Given the description of an element on the screen output the (x, y) to click on. 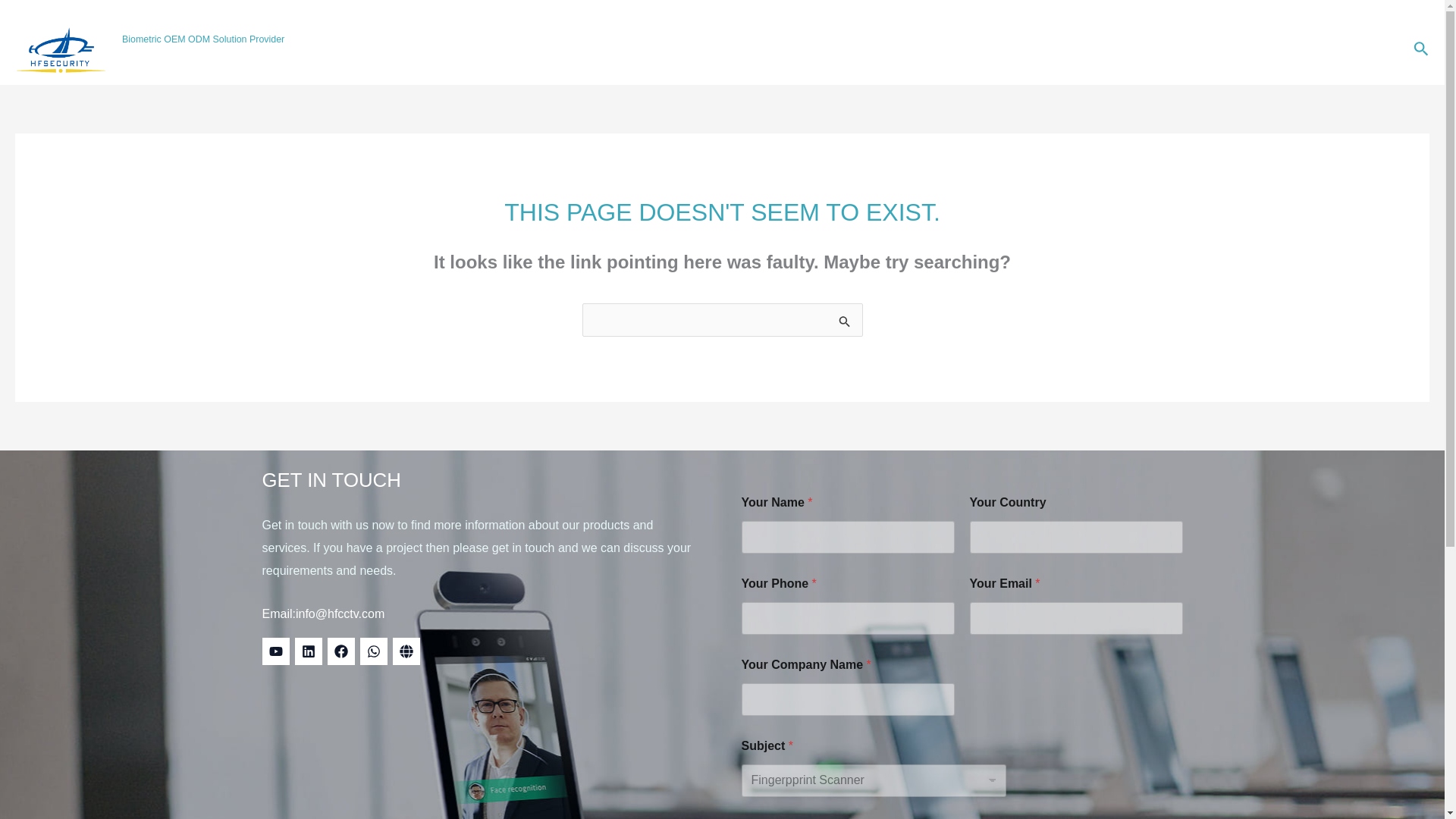
ABOUT (1297, 49)
SERVICE (1190, 49)
CONTACT  (1360, 49)
PRODUCT (969, 49)
BIOMETRIC SOLUTION (1085, 49)
